Given the description of an element on the screen output the (x, y) to click on. 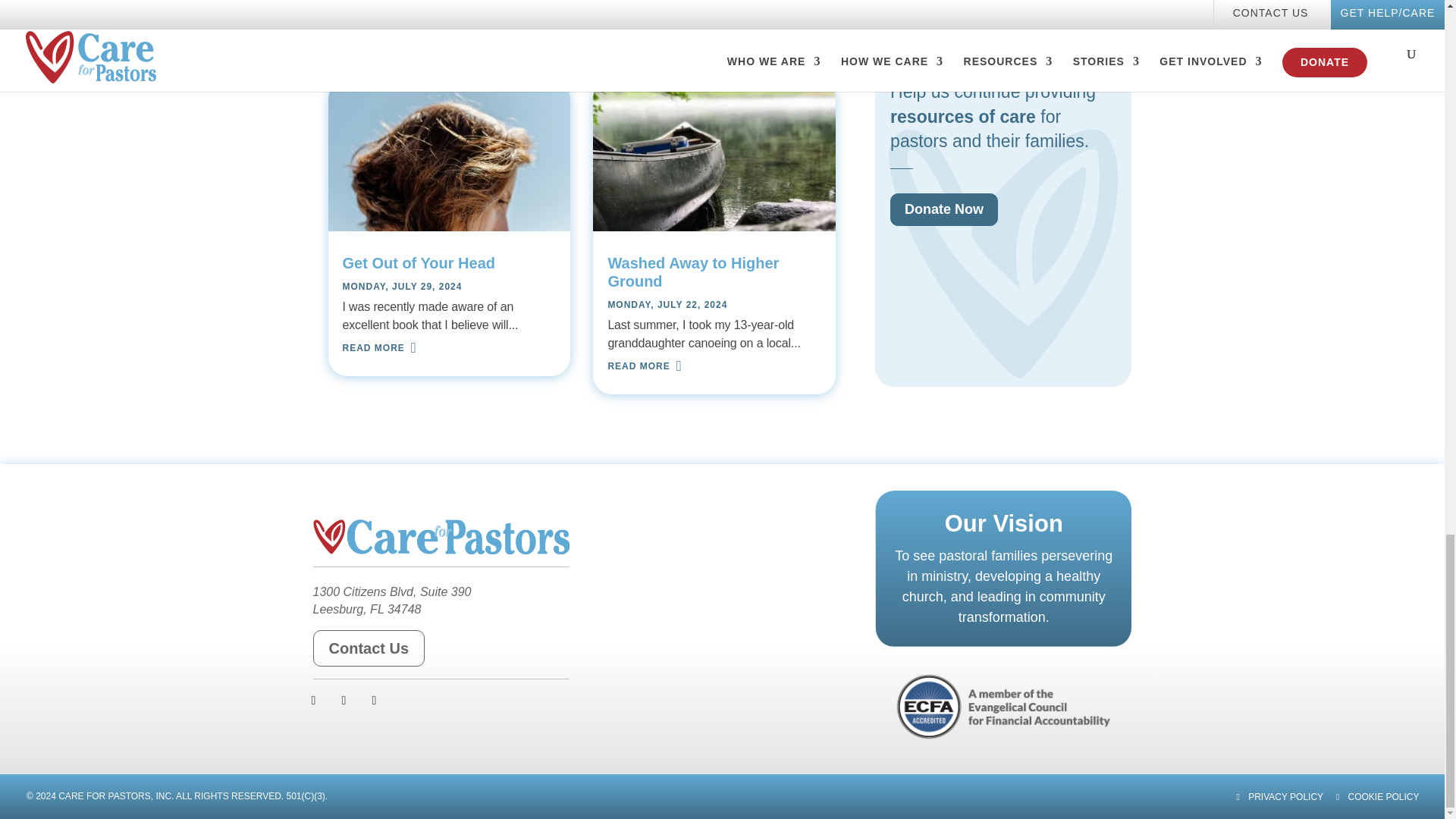
Follow on Youtube (374, 700)
Follow on X (343, 700)
Follow on Facebook (313, 700)
ecfa-badge1 (1003, 706)
